Given the description of an element on the screen output the (x, y) to click on. 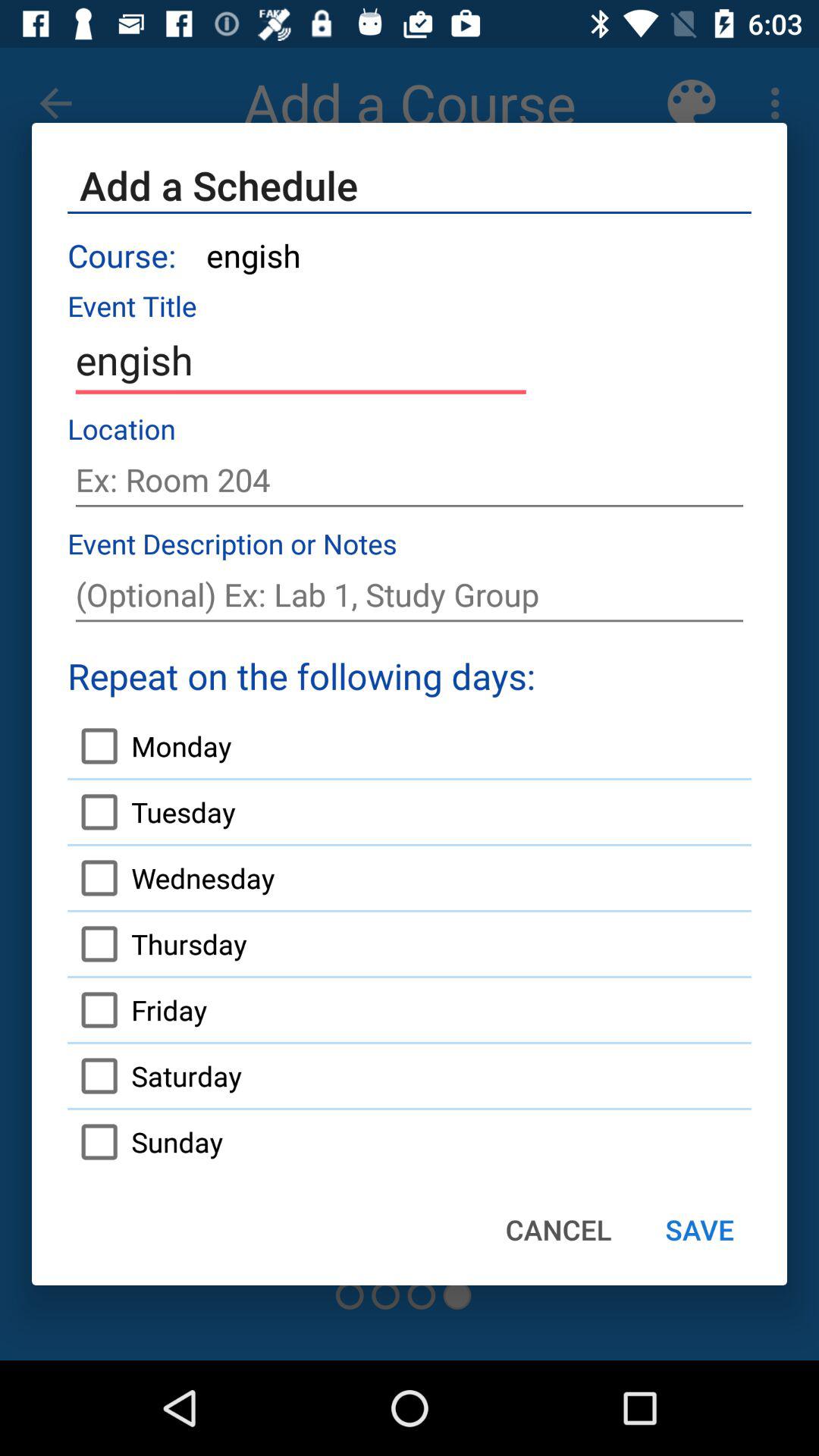
click the monday (149, 746)
